Given the description of an element on the screen output the (x, y) to click on. 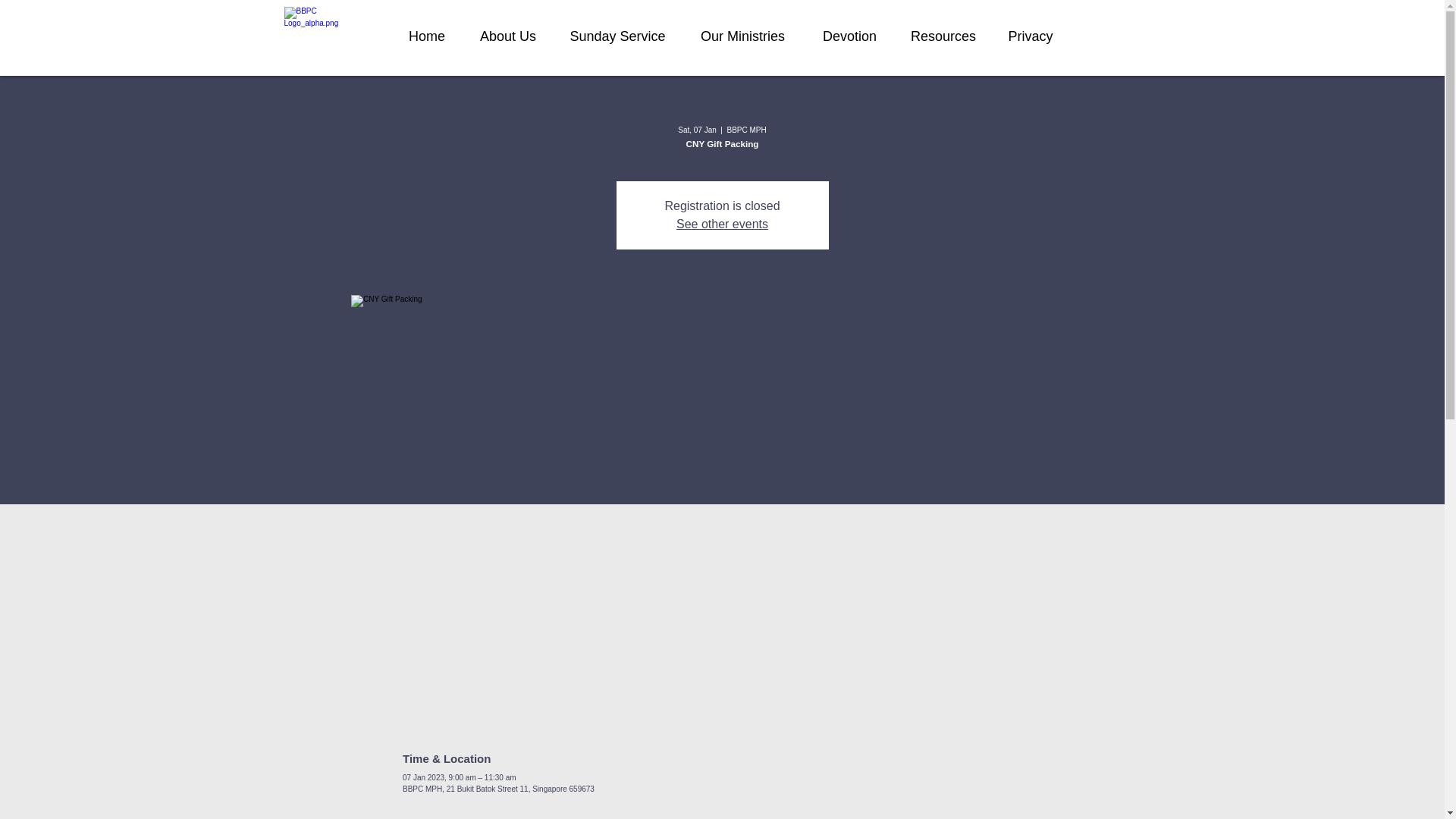
Devotion (849, 36)
Sunday Service (617, 36)
See other events (722, 223)
About Us (508, 36)
Home (426, 36)
Privacy (1030, 36)
Our Ministries (742, 36)
